Given the description of an element on the screen output the (x, y) to click on. 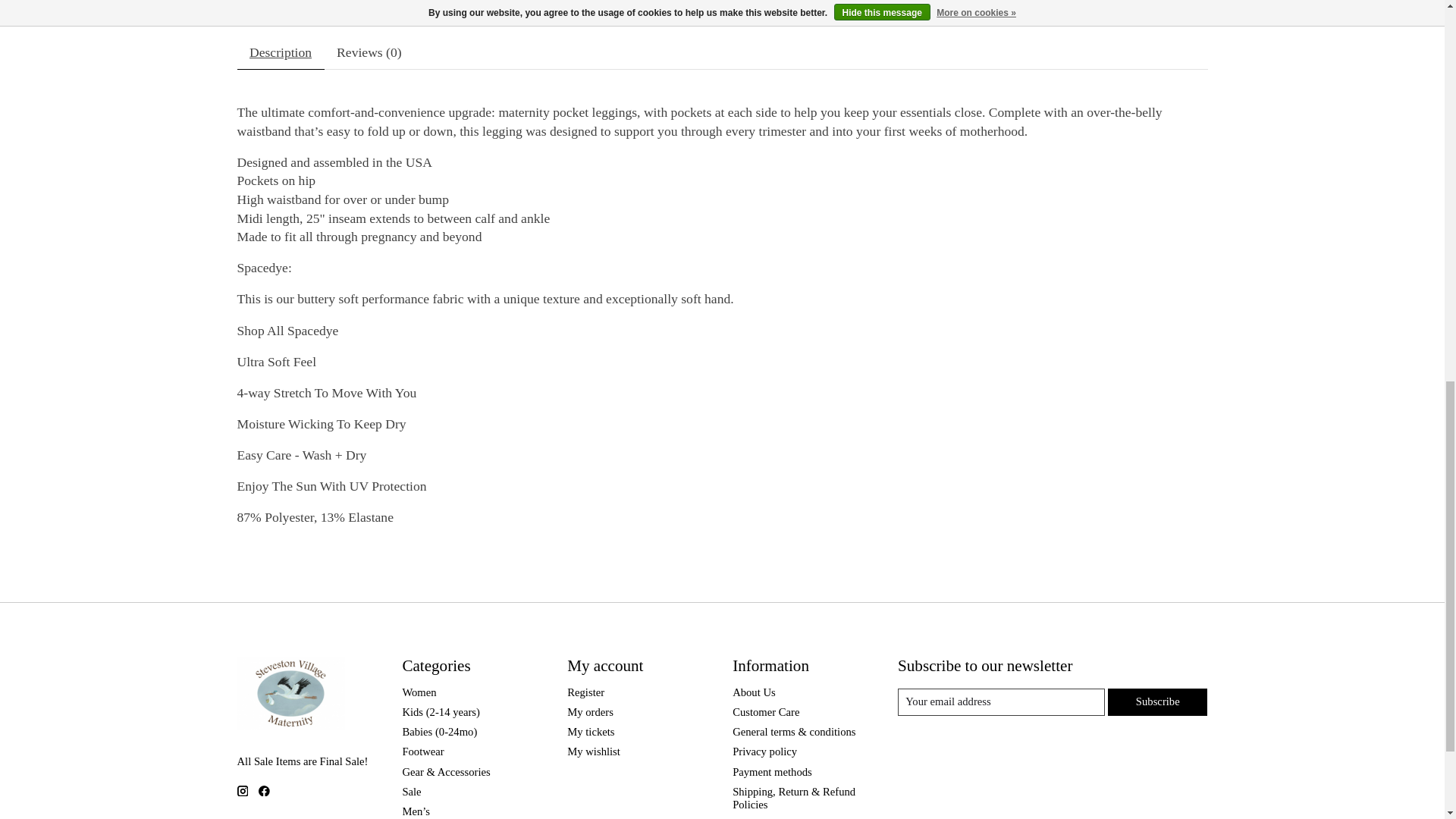
Register (585, 692)
My orders (589, 711)
My tickets (590, 731)
My wishlist (593, 751)
